Given the description of an element on the screen output the (x, y) to click on. 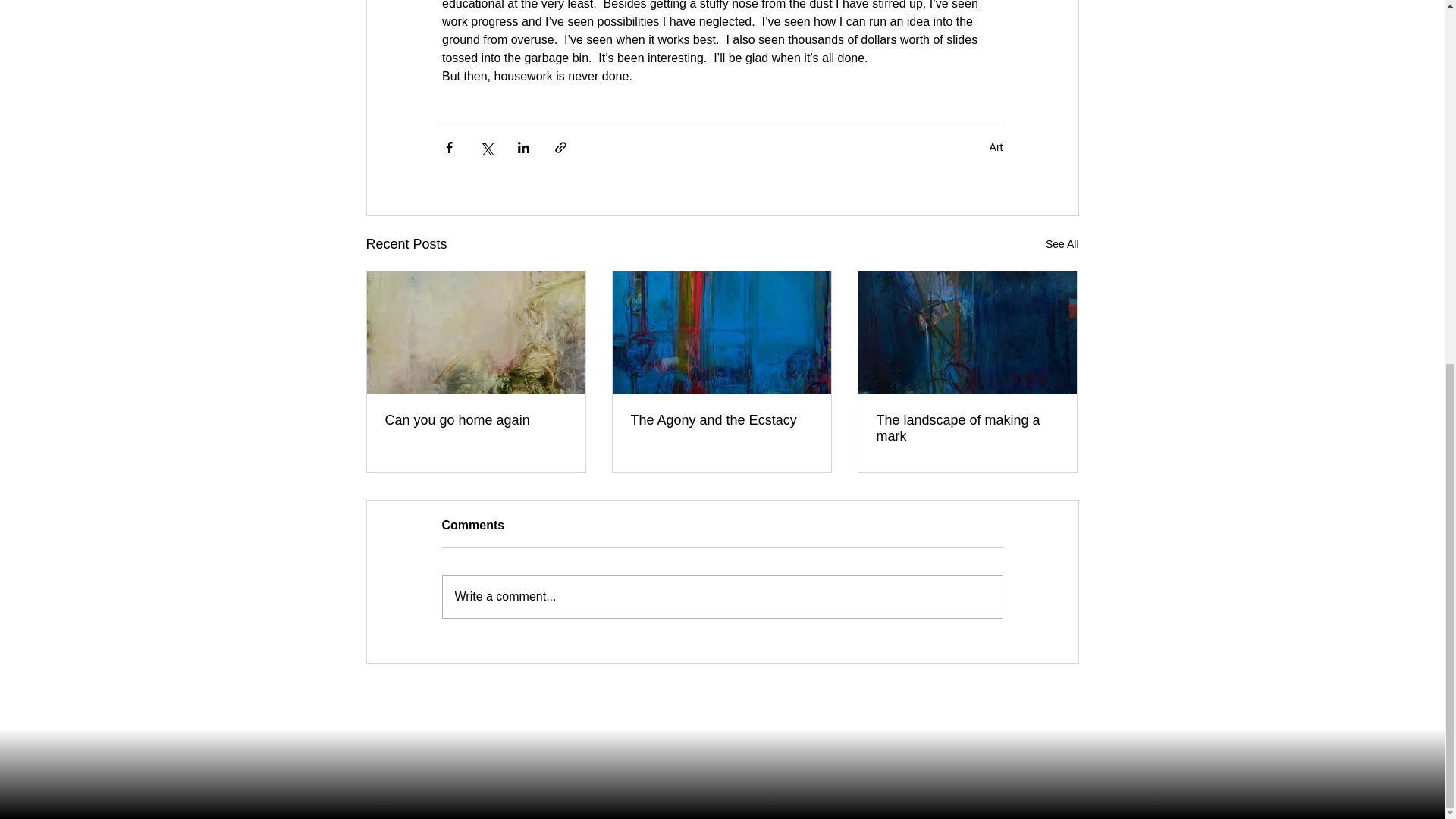
The Agony and the Ecstacy (721, 420)
Can you go home again (476, 420)
See All (1061, 244)
Art (996, 146)
